Given the description of an element on the screen output the (x, y) to click on. 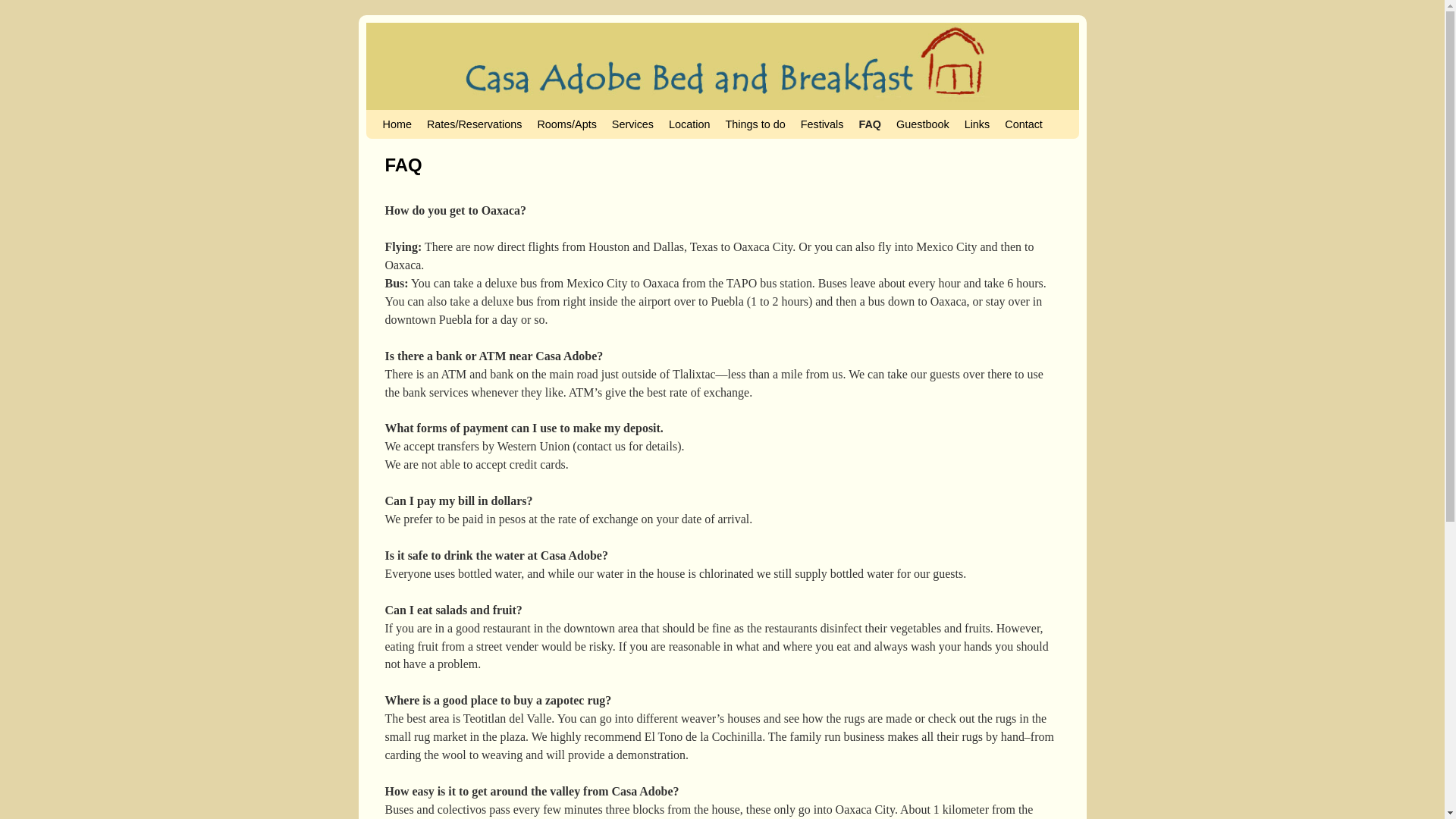
Guestbook (922, 123)
FAQ (869, 123)
Things to do (754, 123)
Services (632, 123)
Festivals (822, 123)
Skip to secondary content (412, 116)
Links (976, 123)
Contact (1023, 123)
Location (689, 123)
Home (396, 123)
